Given the description of an element on the screen output the (x, y) to click on. 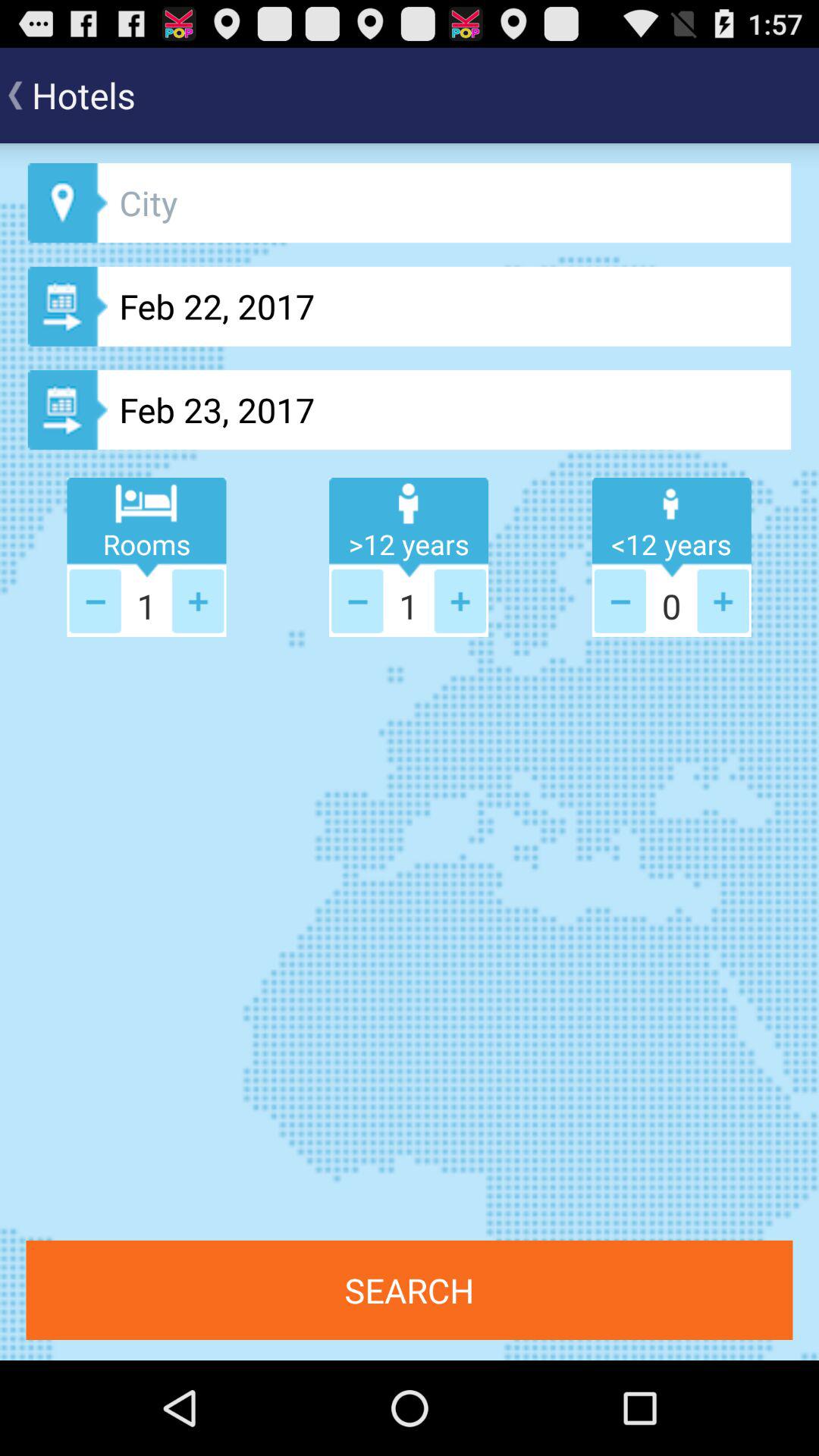
minus the value (620, 601)
